Given the description of an element on the screen output the (x, y) to click on. 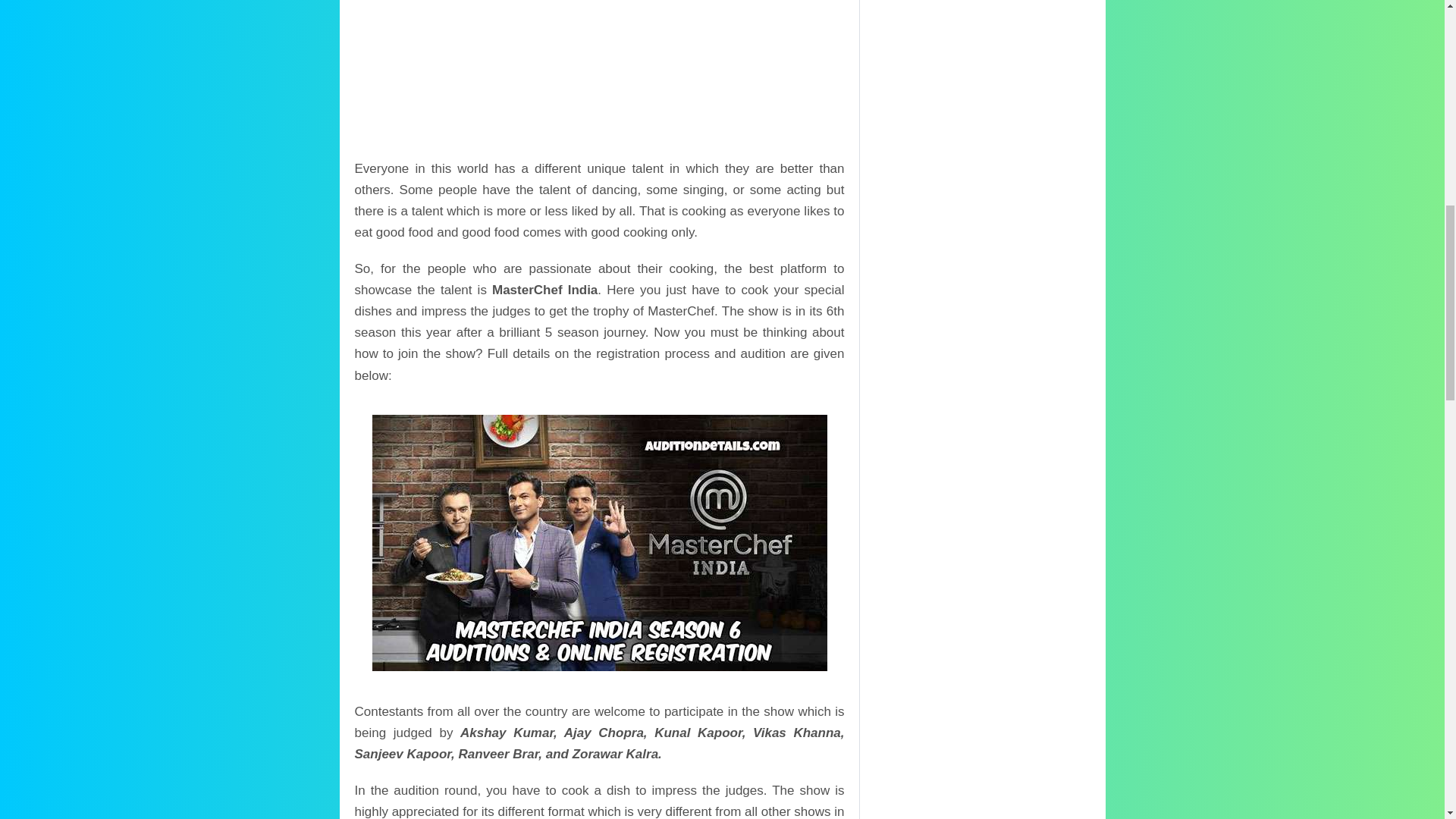
Advertisement (599, 79)
